Given the description of an element on the screen output the (x, y) to click on. 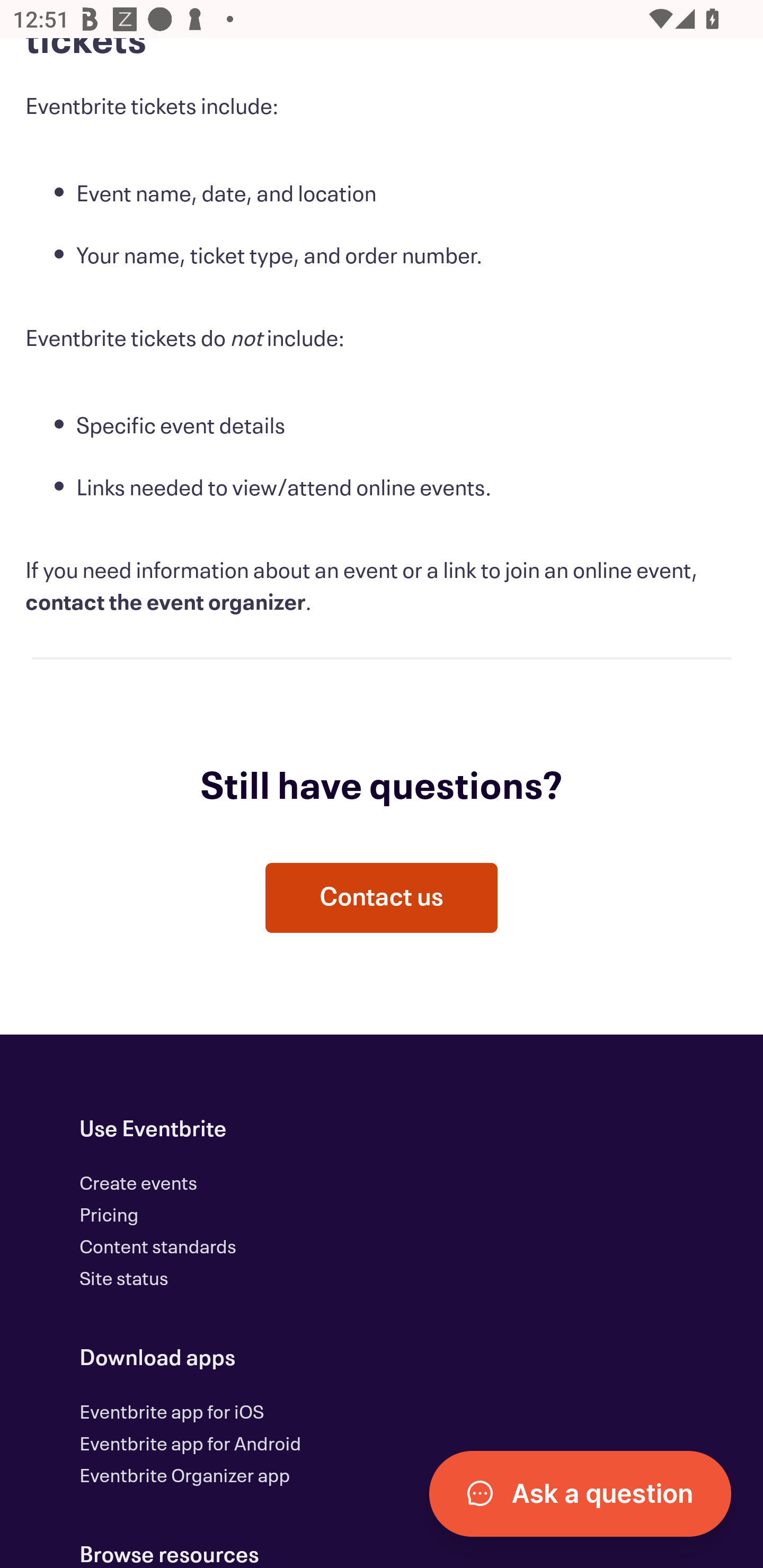
Contact us (381, 899)
Create events (138, 1186)
Pricing (109, 1217)
Content standards (157, 1250)
Site status (123, 1281)
Eventbrite app for iOS (172, 1415)
Eventbrite app for Android (190, 1446)
Open Chatbot (579, 1494)
Eventbrite Organizer app (184, 1478)
